Given the description of an element on the screen output the (x, y) to click on. 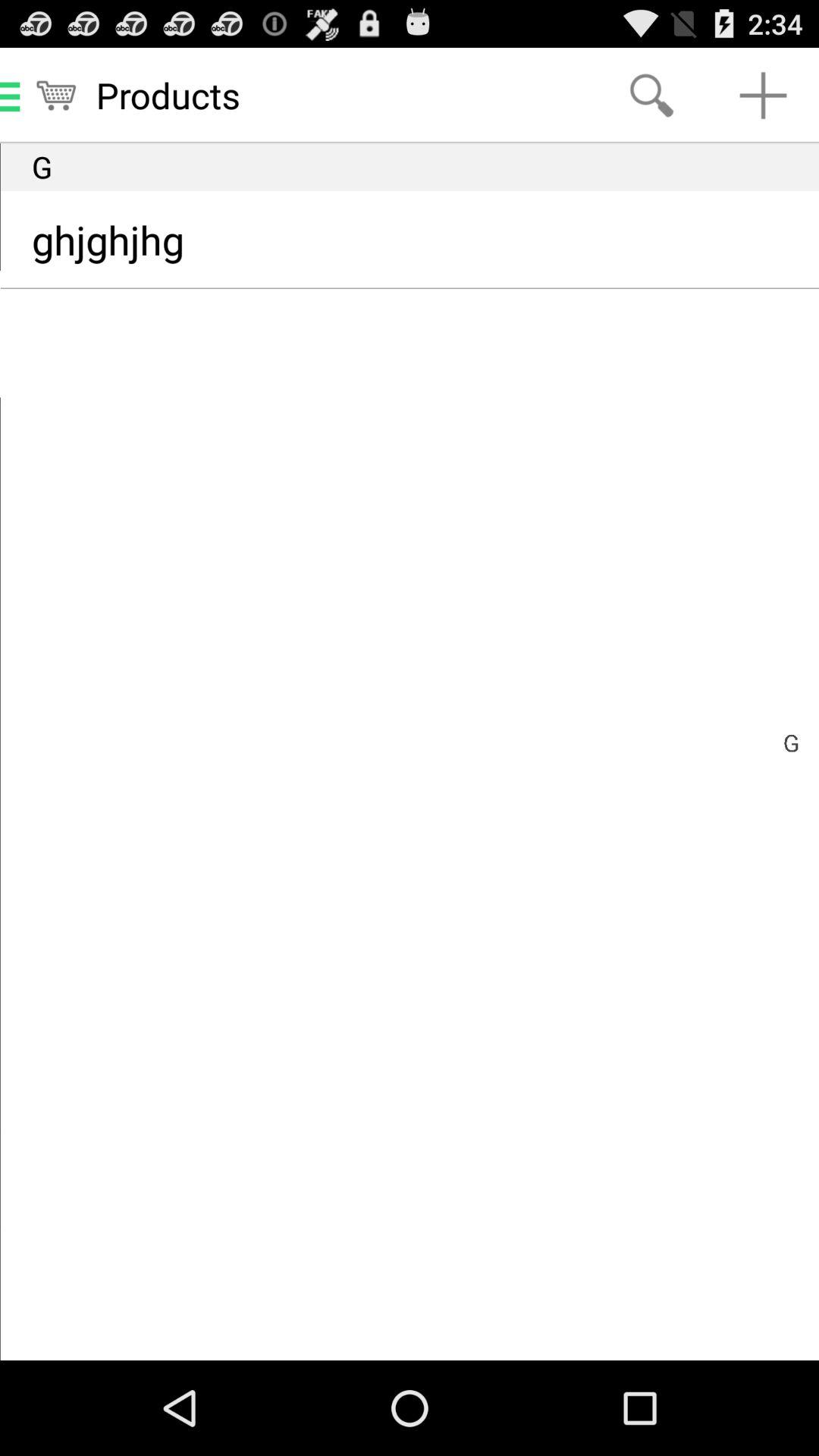
turn on app next to products (651, 95)
